Given the description of an element on the screen output the (x, y) to click on. 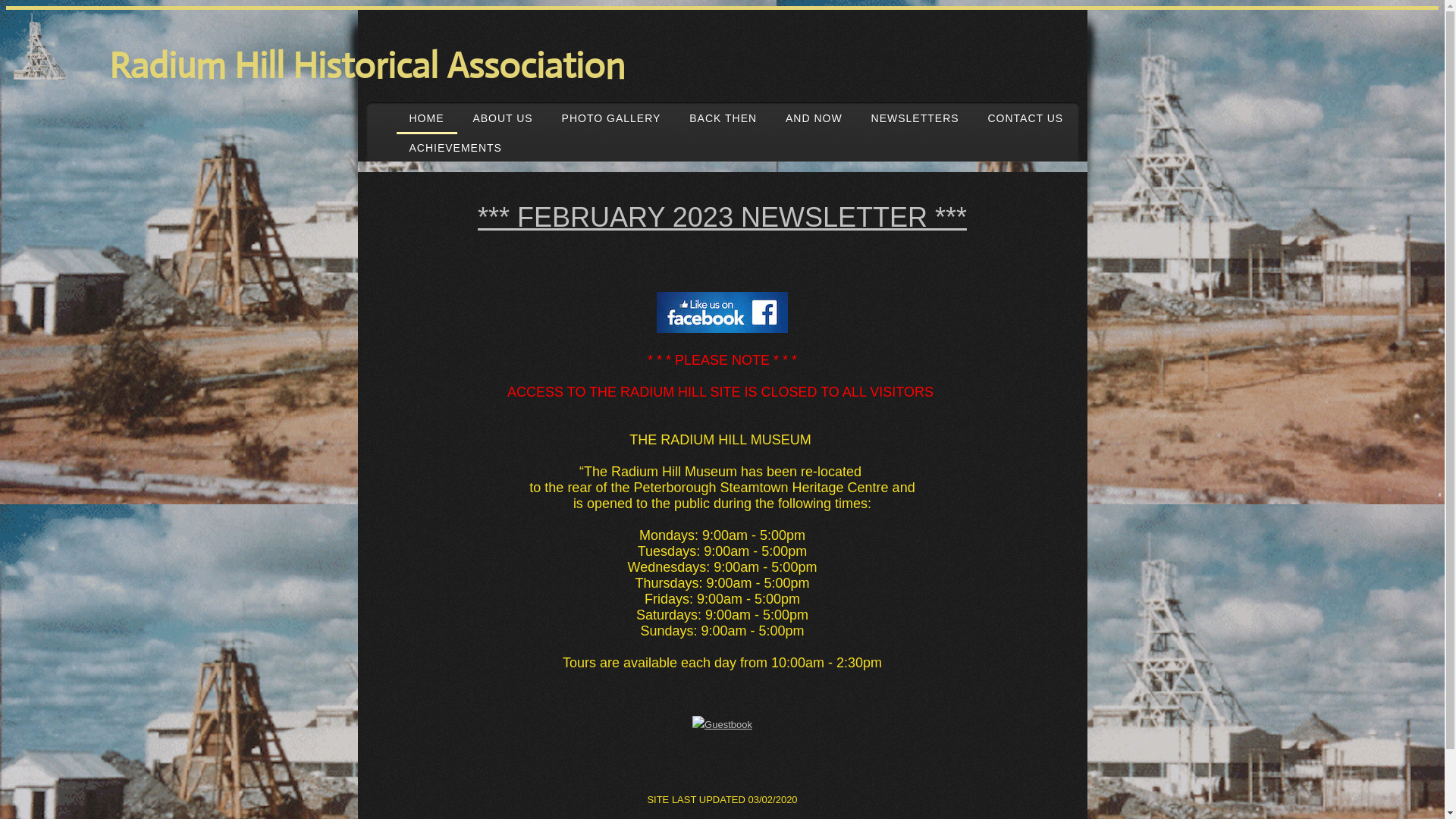
CONTACT US Element type: text (1025, 118)
AND NOW Element type: text (813, 118)
ACHIEVEMENTS Element type: text (454, 147)
BACK THEN Element type: text (722, 118)
HOME Element type: text (425, 118)
ABOUT US Element type: text (502, 118)
*** FEBRUARY 2023 NEWSLETTER *** Element type: text (721, 216)
NEWSLETTERS Element type: text (915, 118)
PHOTO GALLERY Element type: text (611, 118)
